Given the description of an element on the screen output the (x, y) to click on. 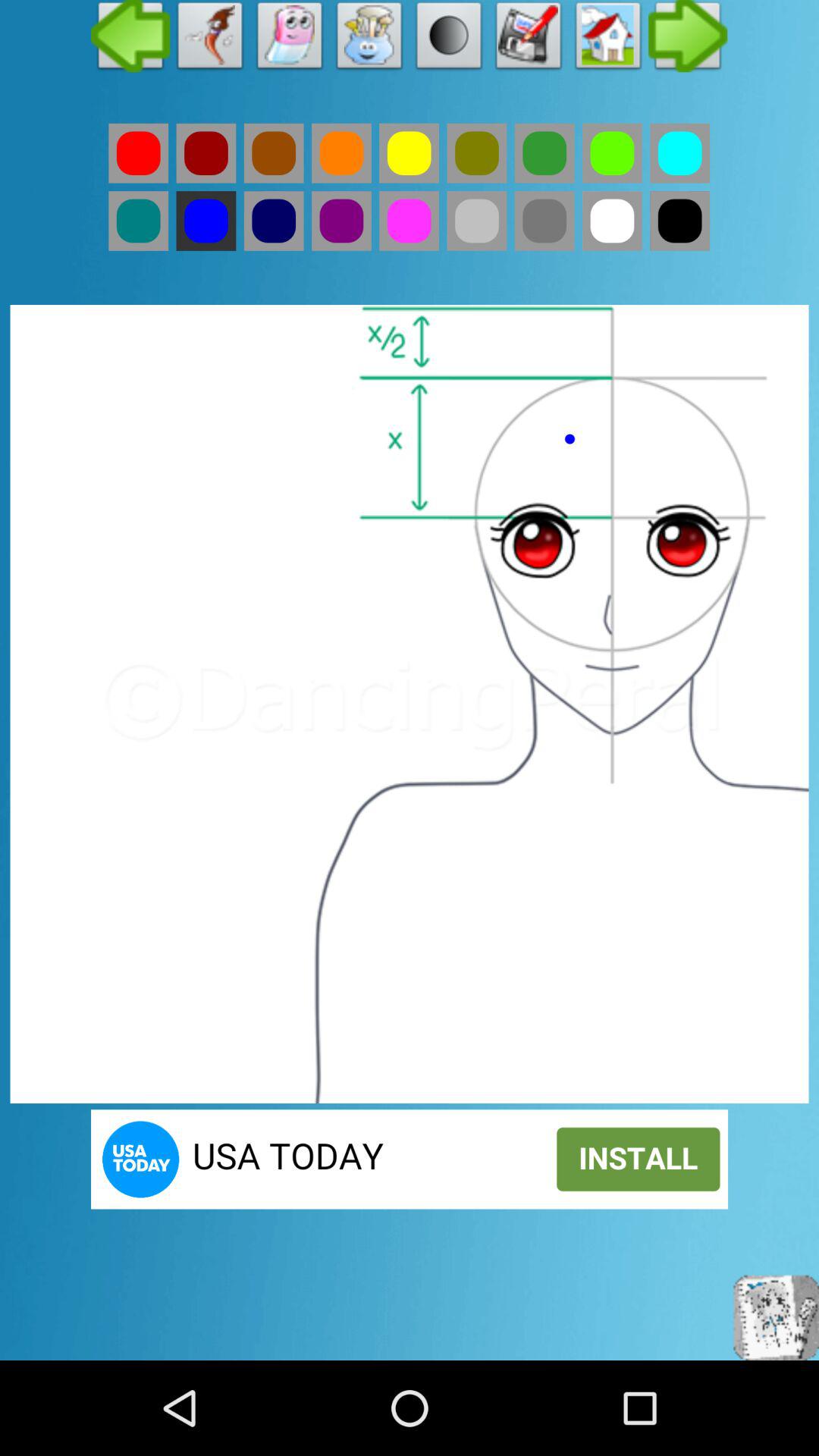
choose designated color option (476, 153)
